Given the description of an element on the screen output the (x, y) to click on. 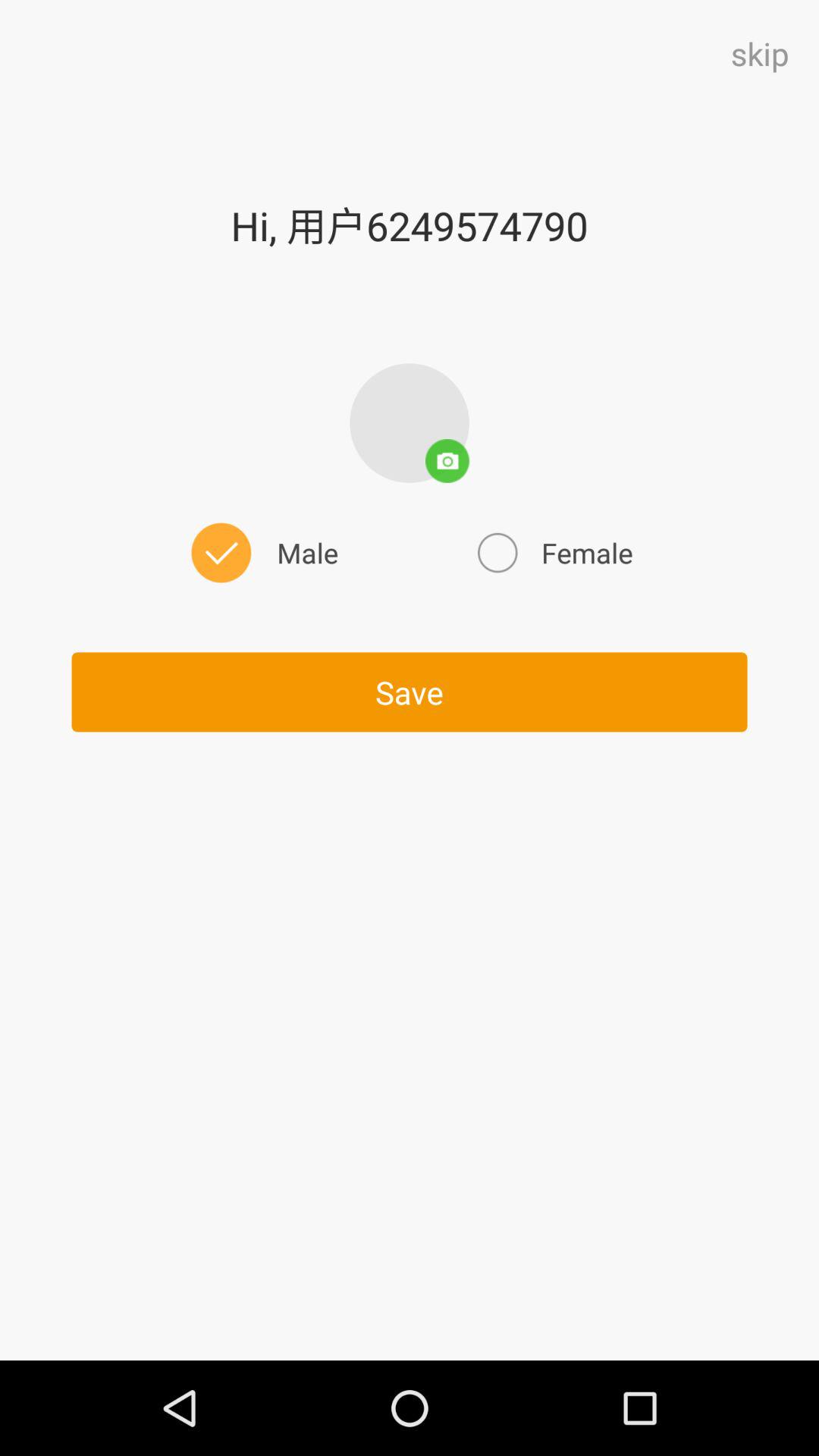
tap the save icon (409, 691)
